Given the description of an element on the screen output the (x, y) to click on. 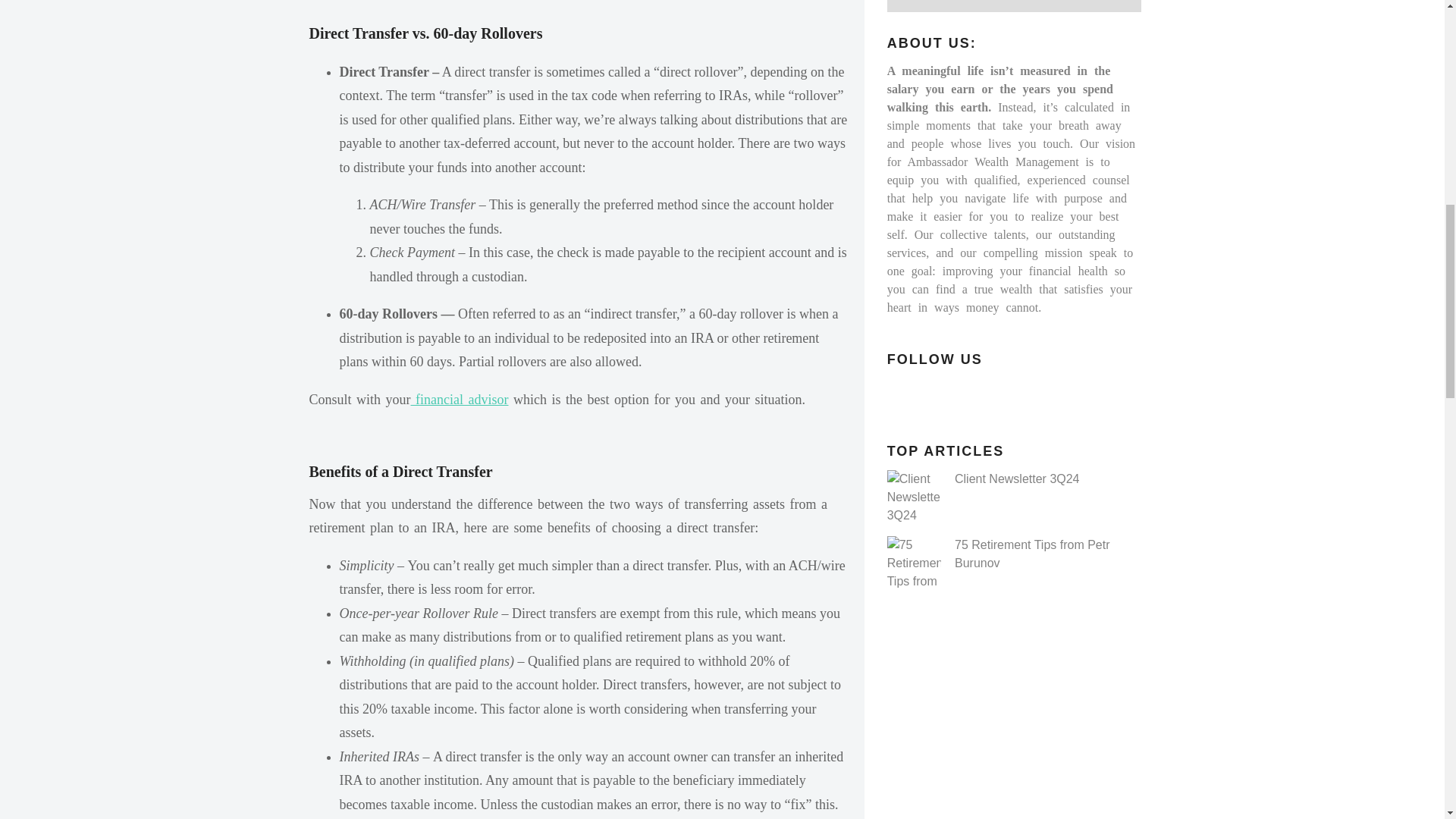
Client Newsletter 3Q24 (1017, 478)
financial advisor (459, 399)
75 Retirement Tips from Petr Burunov (1032, 553)
